Given the description of an element on the screen output the (x, y) to click on. 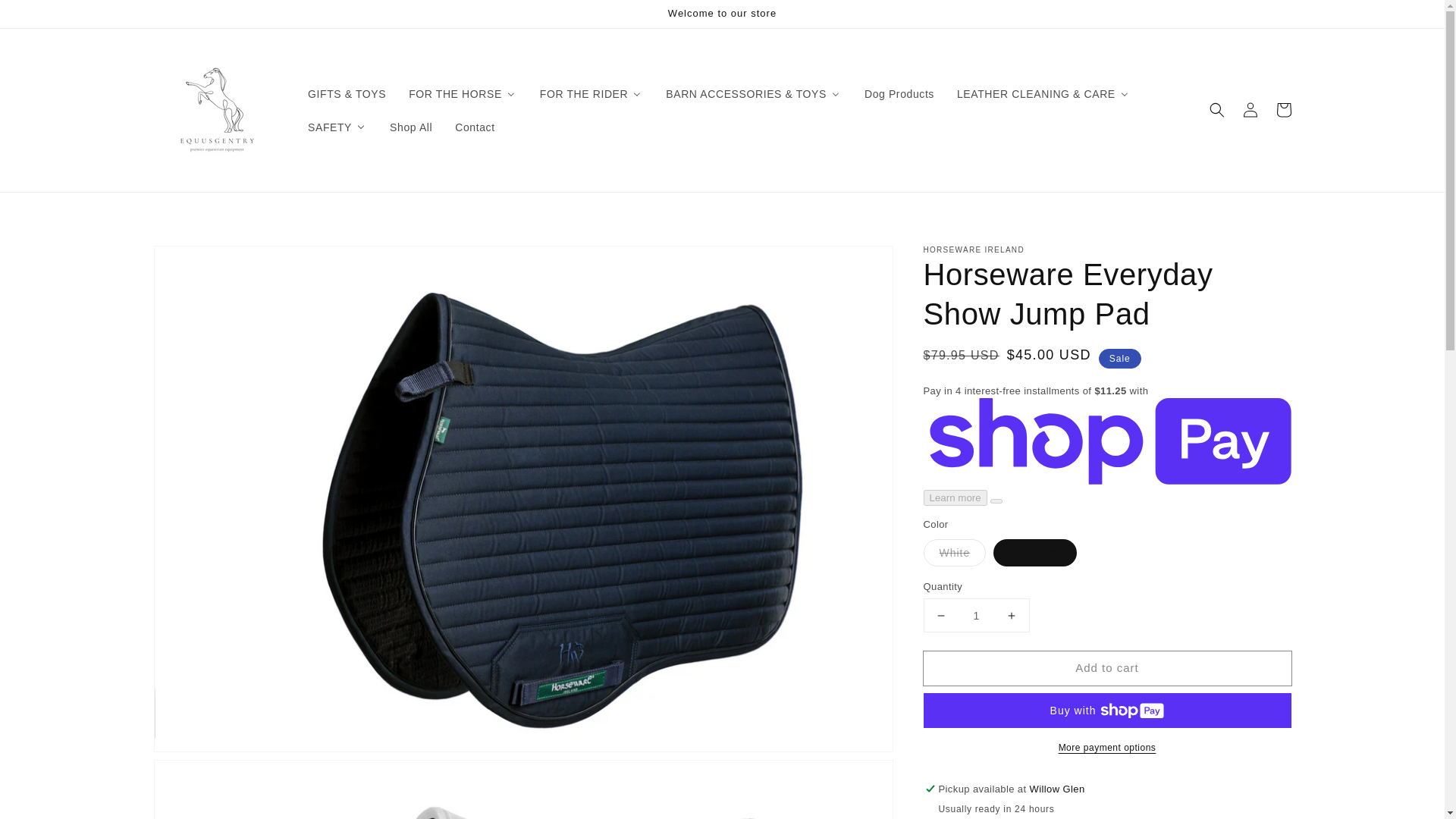
Skip to content (45, 16)
1 (976, 614)
